Given the description of an element on the screen output the (x, y) to click on. 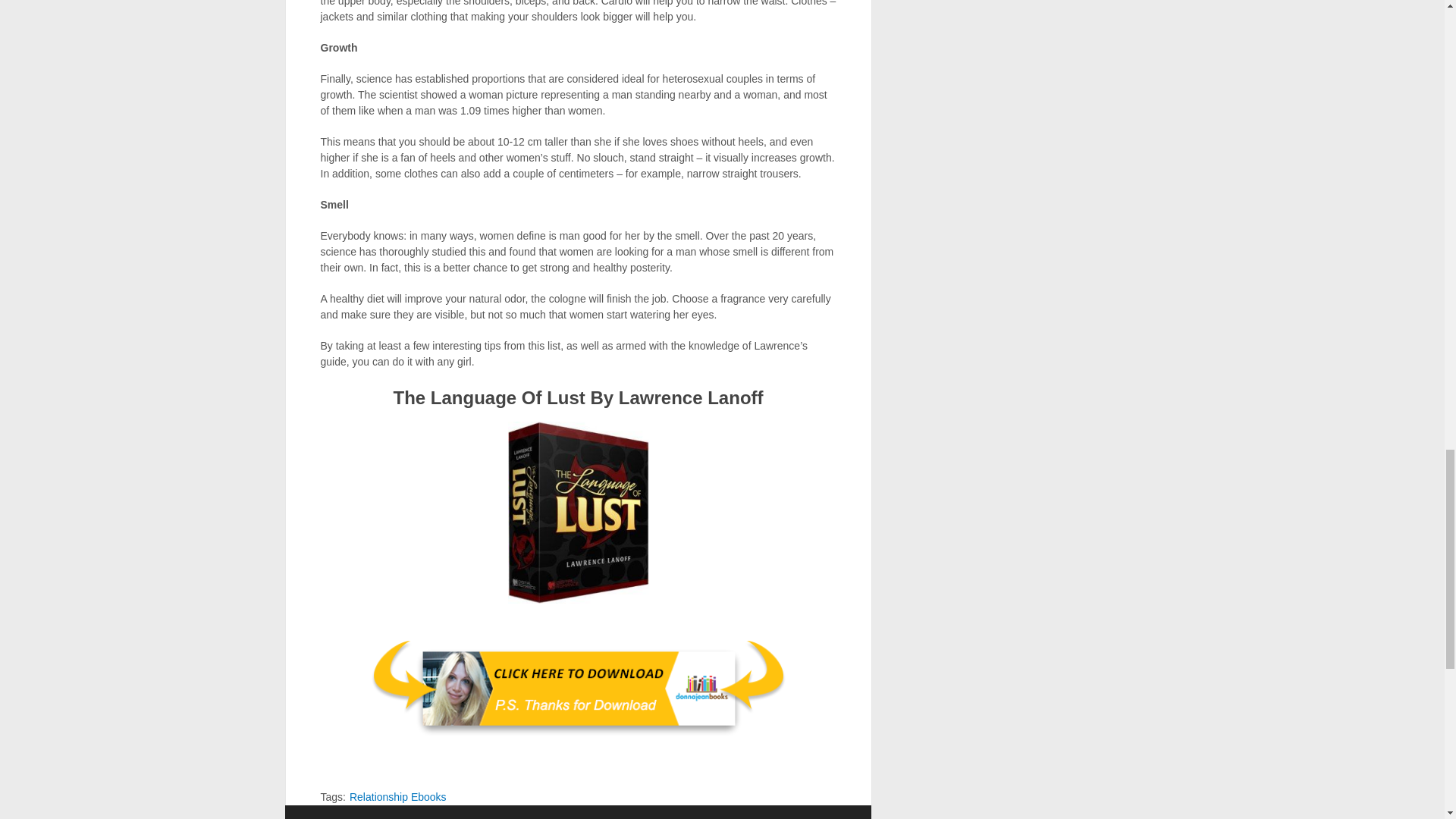
Relationship Ebooks (397, 797)
